Given the description of an element on the screen output the (x, y) to click on. 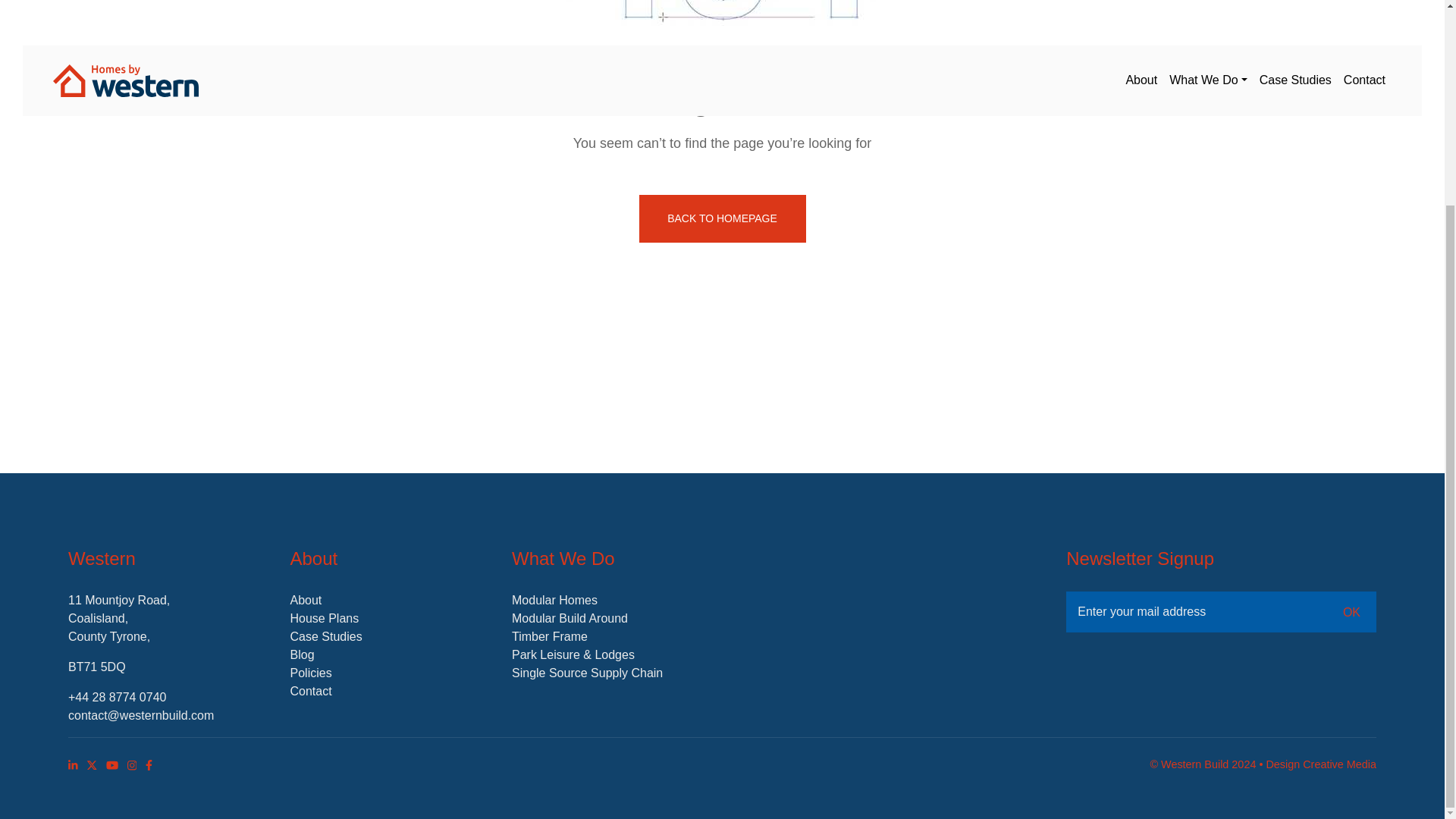
Timber Frame (550, 635)
Case Studies (325, 635)
Modular Homes (554, 599)
OK (1351, 610)
Single Source Supply Chain (587, 672)
Blog (301, 654)
OK (1351, 610)
BACK TO HOMEPAGE (722, 218)
Policies (310, 672)
House Plans (323, 617)
Modular Build Around (569, 617)
Contact (310, 690)
About (305, 599)
